Given the description of an element on the screen output the (x, y) to click on. 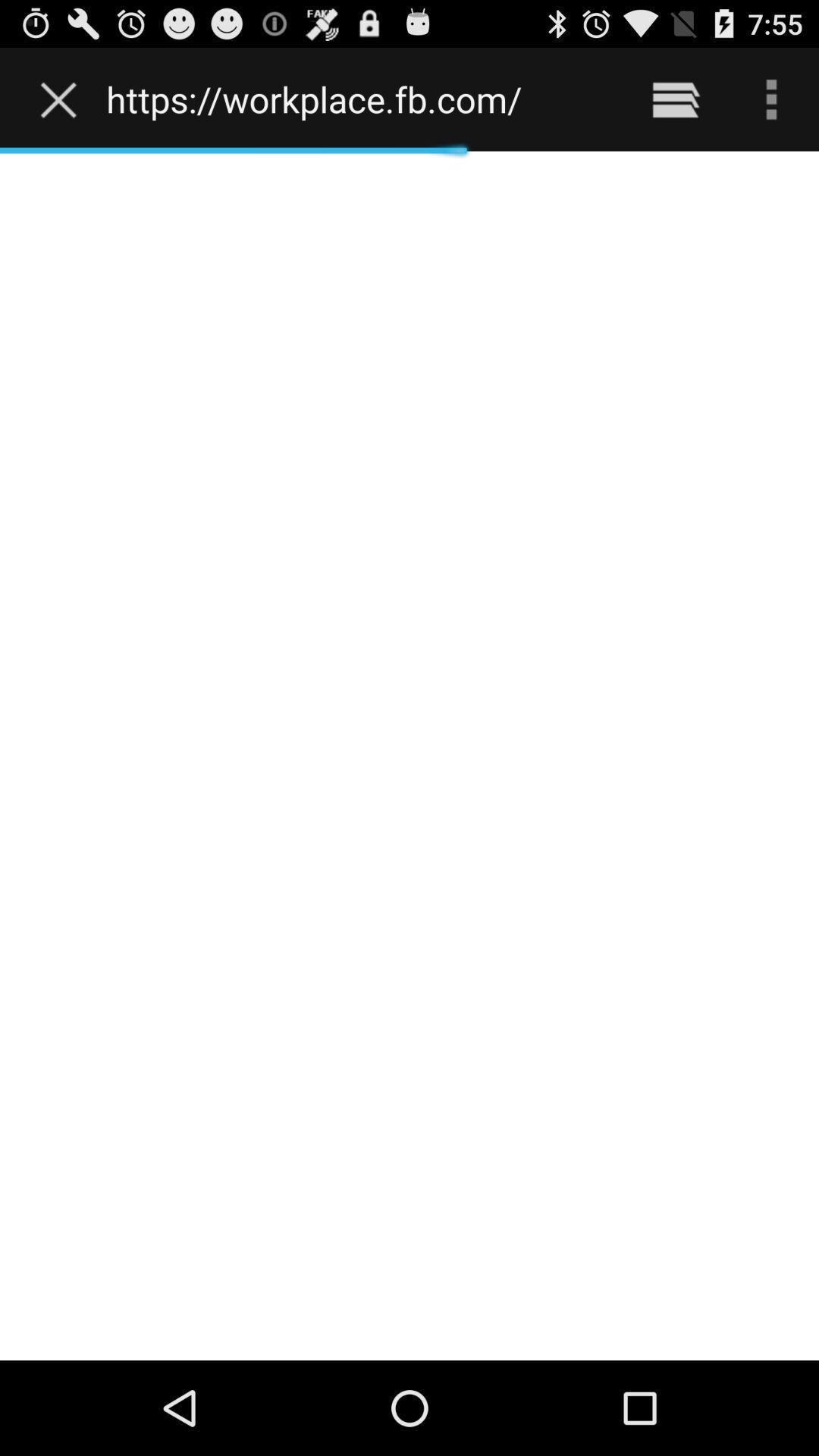
flip until the https workplace fb (357, 99)
